Given the description of an element on the screen output the (x, y) to click on. 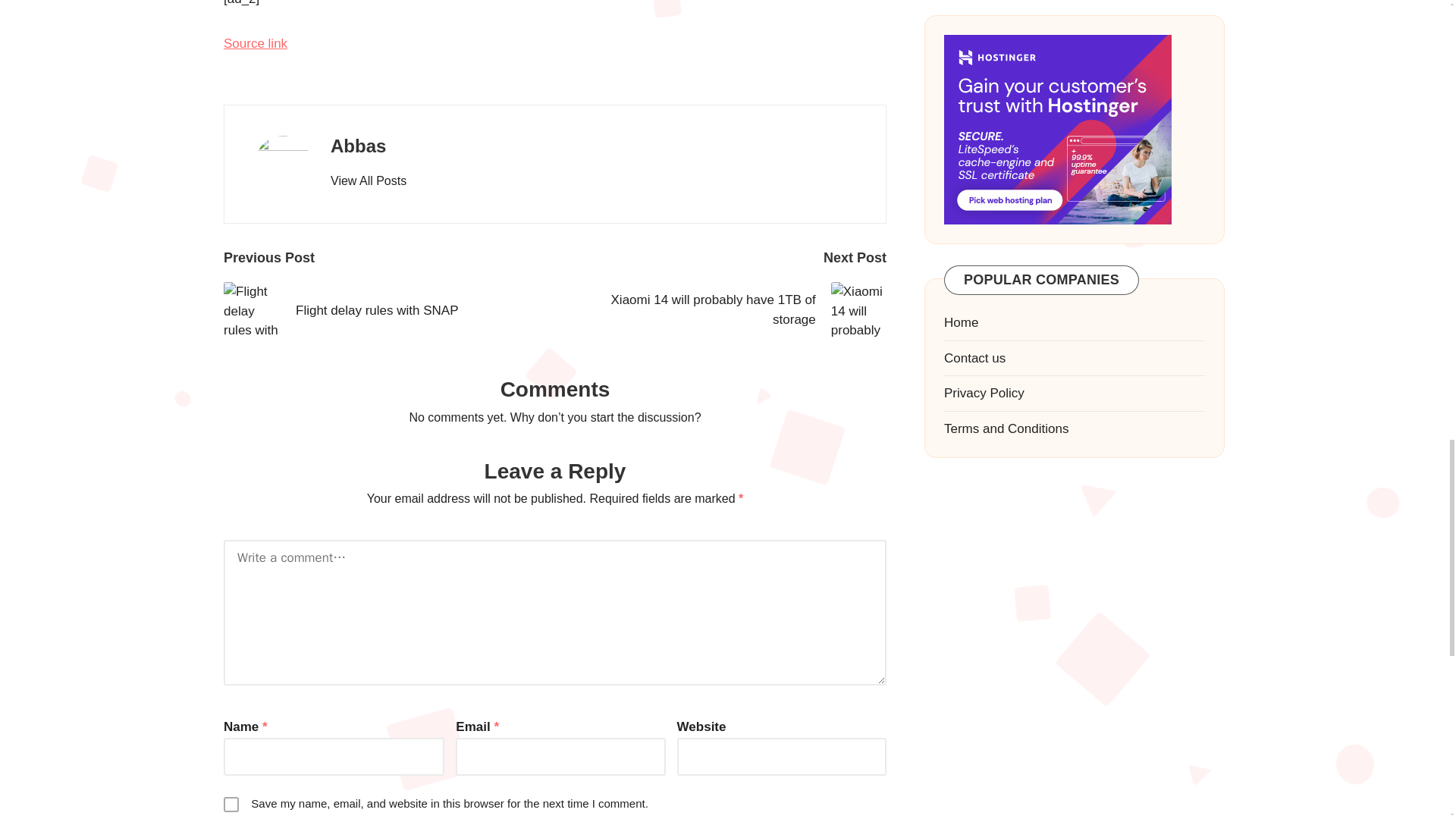
yes (231, 804)
Source link (255, 43)
View All Posts (368, 180)
Flight delay rules with SNAP (389, 310)
Abbas (357, 145)
Xiaomi 14 will probably have 1TB of storage (720, 309)
